Given the description of an element on the screen output the (x, y) to click on. 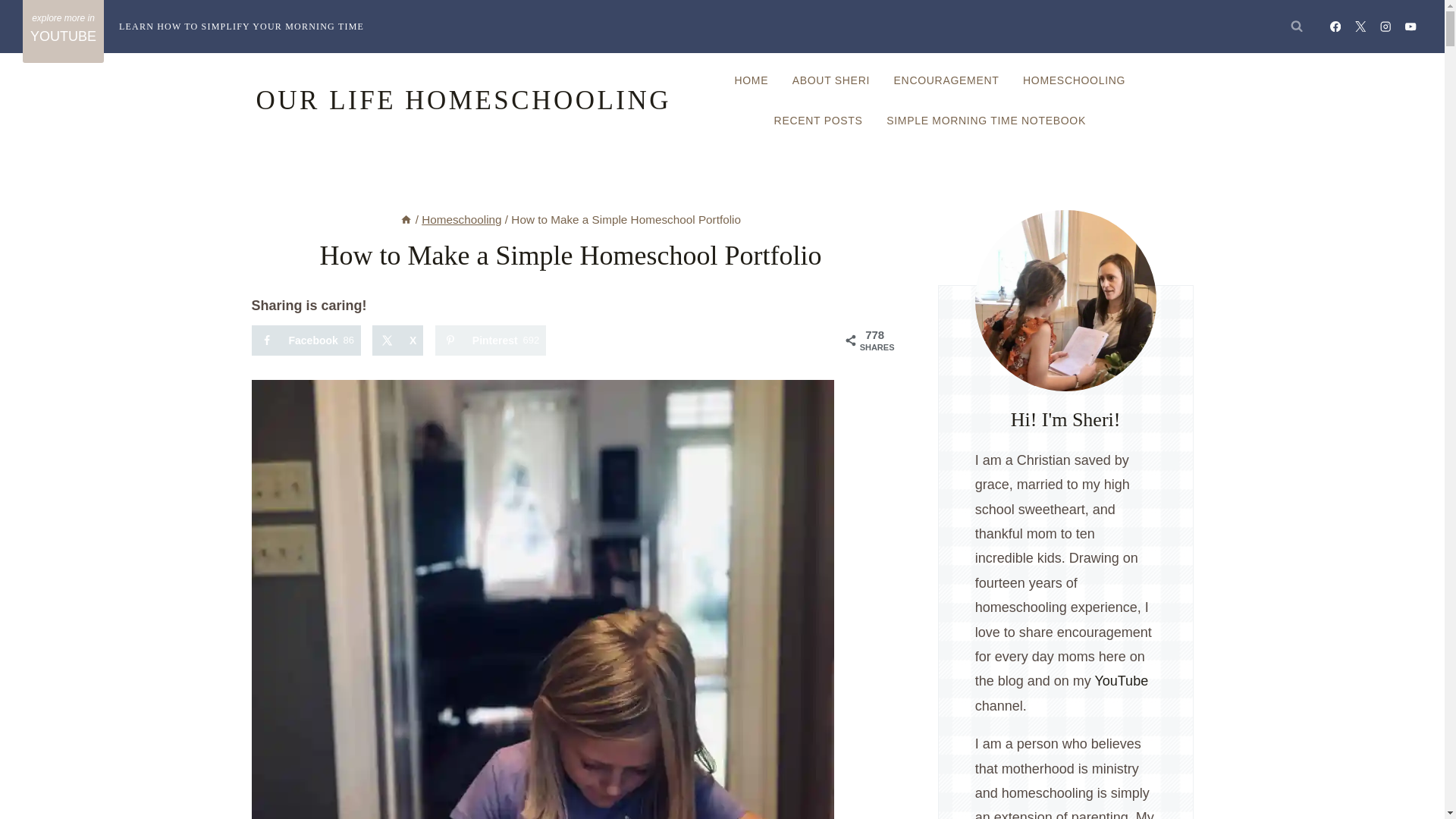
Homeschooling (461, 219)
ABOUT SHERI (831, 80)
SIMPLE MORNING TIME NOTEBOOK (986, 120)
Share on X (397, 340)
Share on Facebook (306, 340)
HOME (751, 80)
OUR LIFE HOMESCHOOLING (463, 101)
RECENT POSTS (818, 120)
LEARN HOW TO SIMPLIFY YOUR MORNING TIME (306, 340)
